Given the description of an element on the screen output the (x, y) to click on. 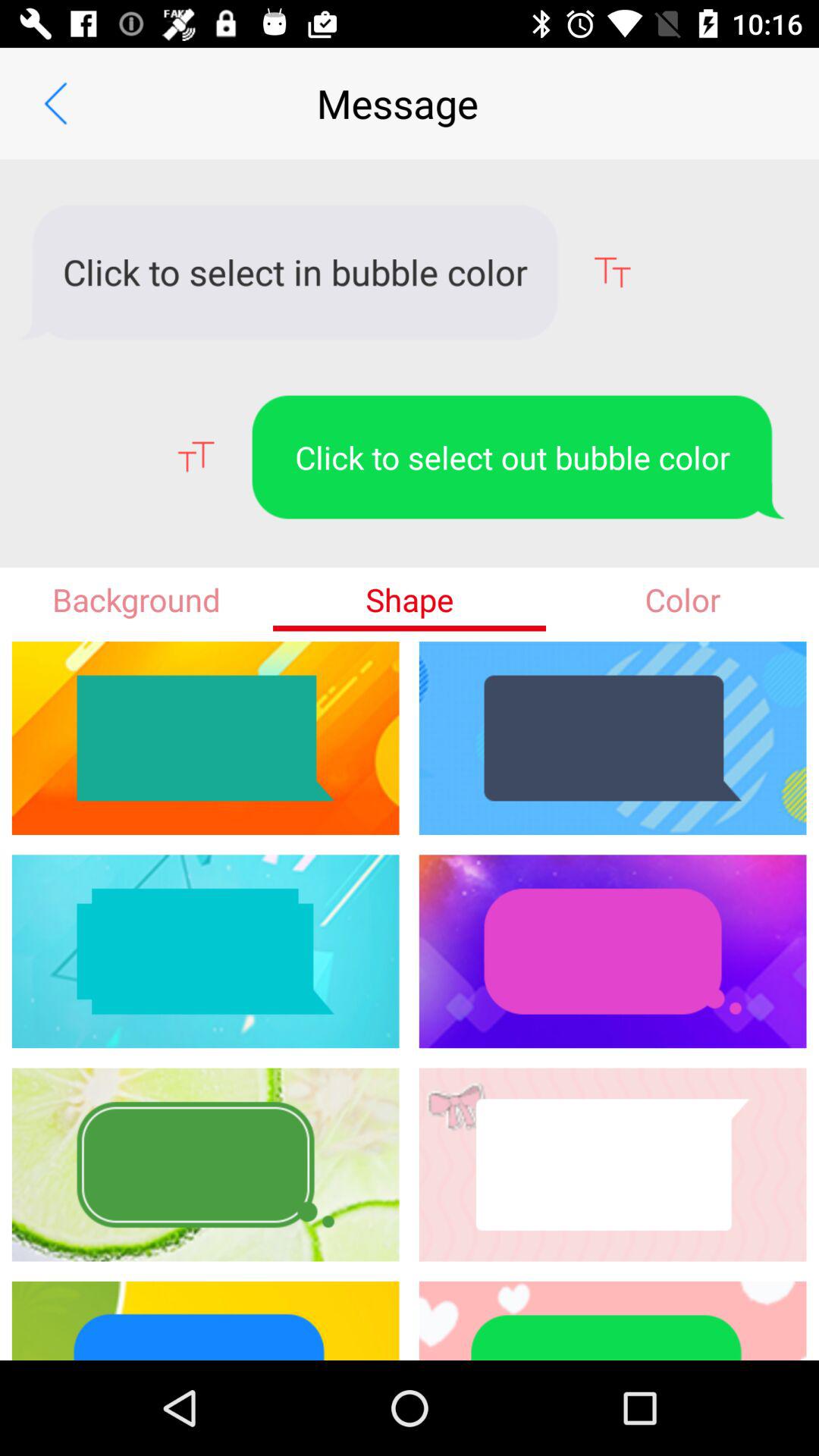
open the background icon (136, 599)
